Given the description of an element on the screen output the (x, y) to click on. 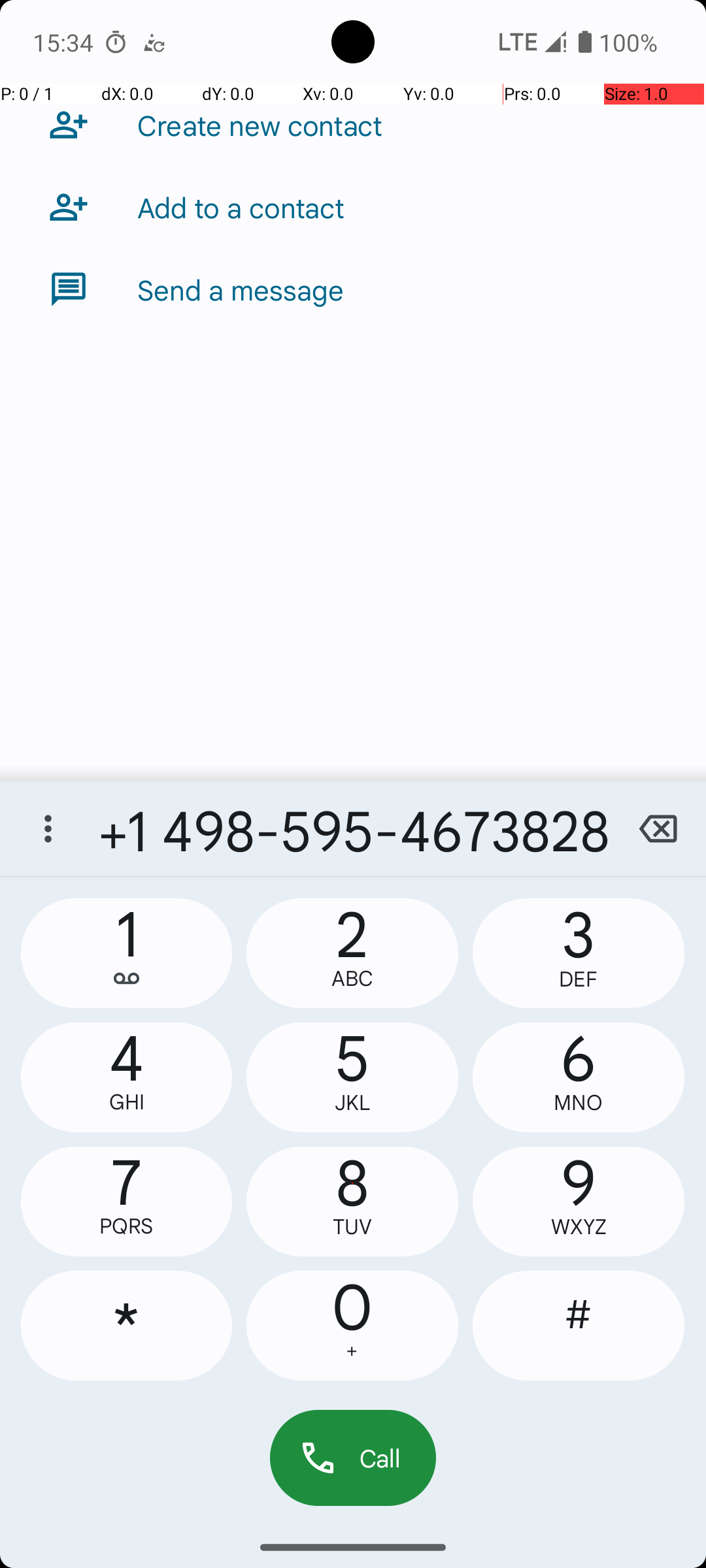
+1 498-595-4673828 Element type: android.widget.EditText (352, 828)
